Given the description of an element on the screen output the (x, y) to click on. 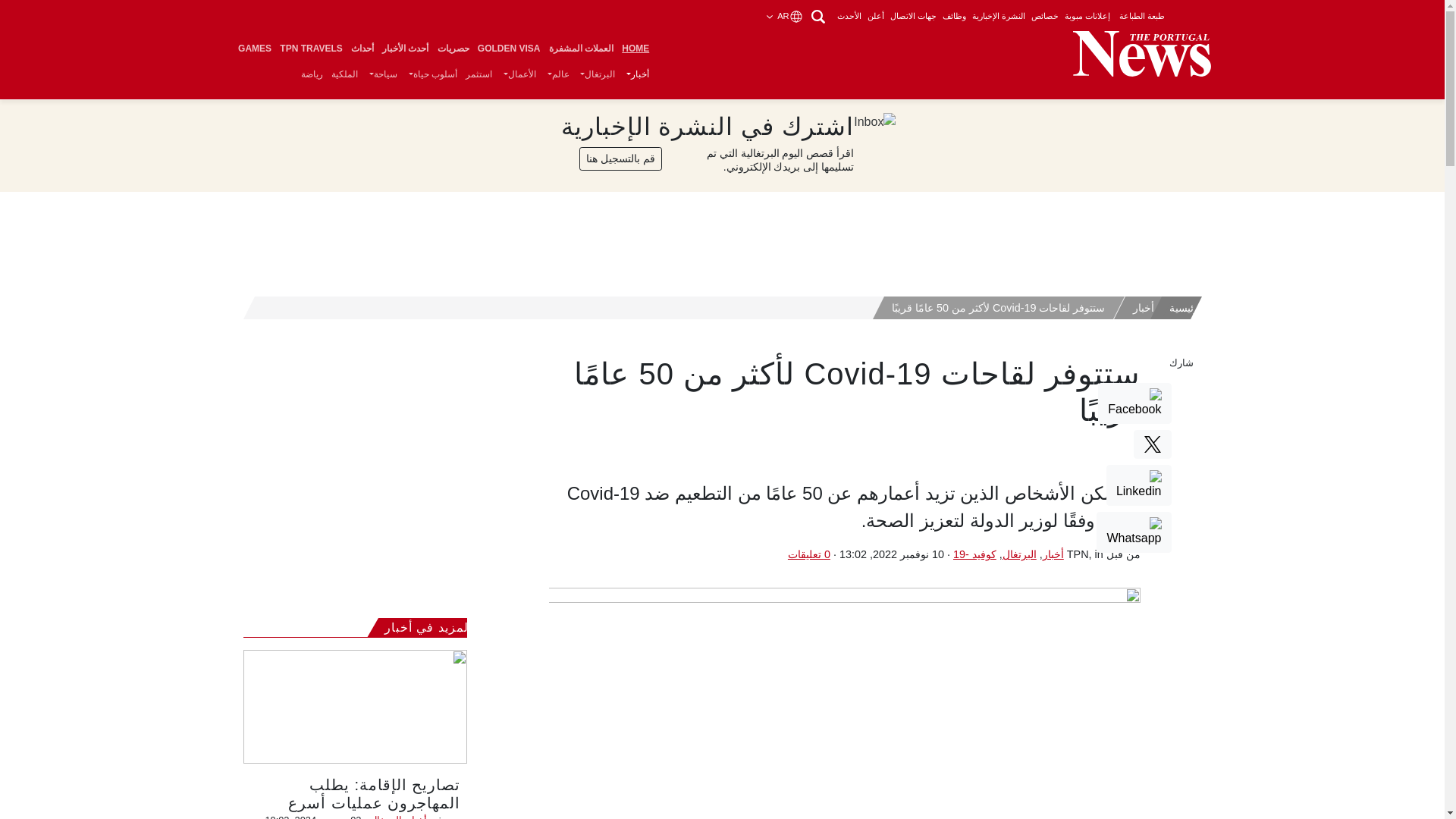
GOLDEN VISA (508, 48)
GAMES (253, 48)
AR (785, 15)
TPN TRAVELS (311, 48)
HOME (635, 48)
